Given the description of an element on the screen output the (x, y) to click on. 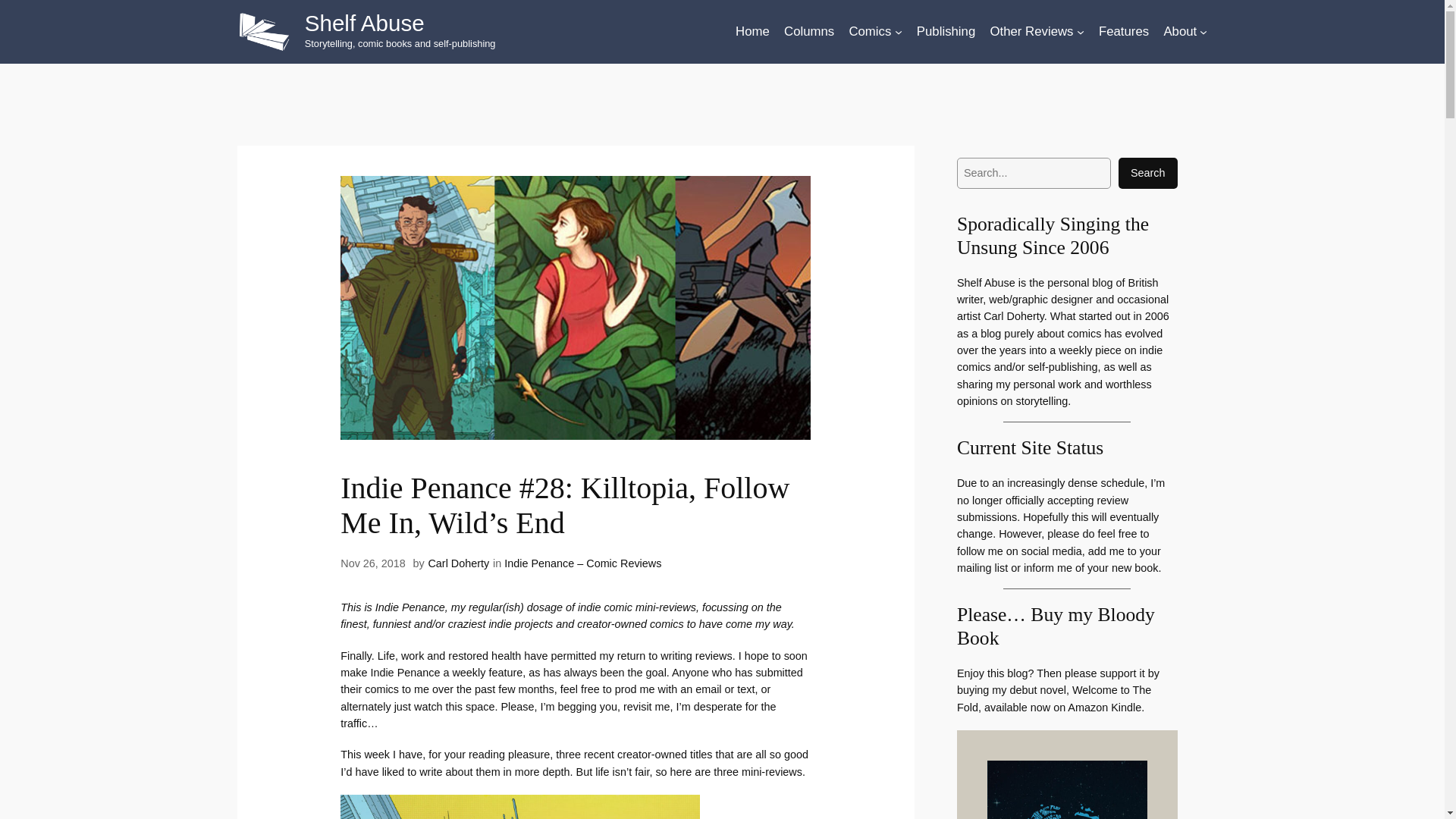
Shelf Abuse (364, 23)
Columns (809, 31)
Nov 26, 2018 (373, 563)
Carl Doherty (458, 563)
About (1179, 31)
Comics (869, 31)
Home (752, 31)
Publishing (946, 31)
Other Reviews (1031, 31)
Features (1123, 31)
